Given the description of an element on the screen output the (x, y) to click on. 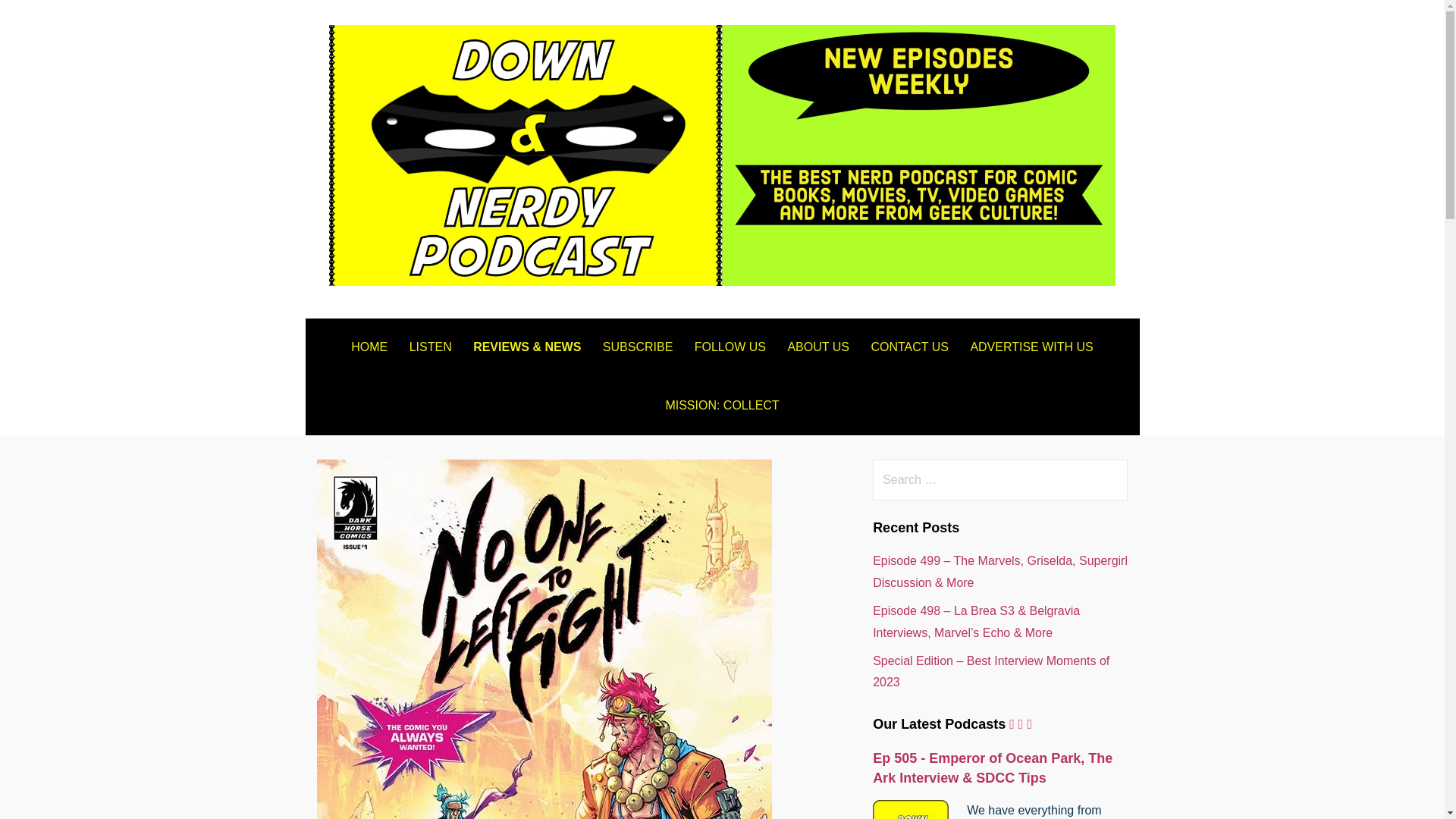
LISTEN (430, 347)
ADVERTISE WITH US (1031, 347)
Search (42, 18)
CONTACT US (909, 347)
MISSION: COLLECT (721, 405)
HOME (369, 347)
ABOUT US (818, 347)
FOLLOW US (729, 347)
SUBSCRIBE (637, 347)
